Given the description of an element on the screen output the (x, y) to click on. 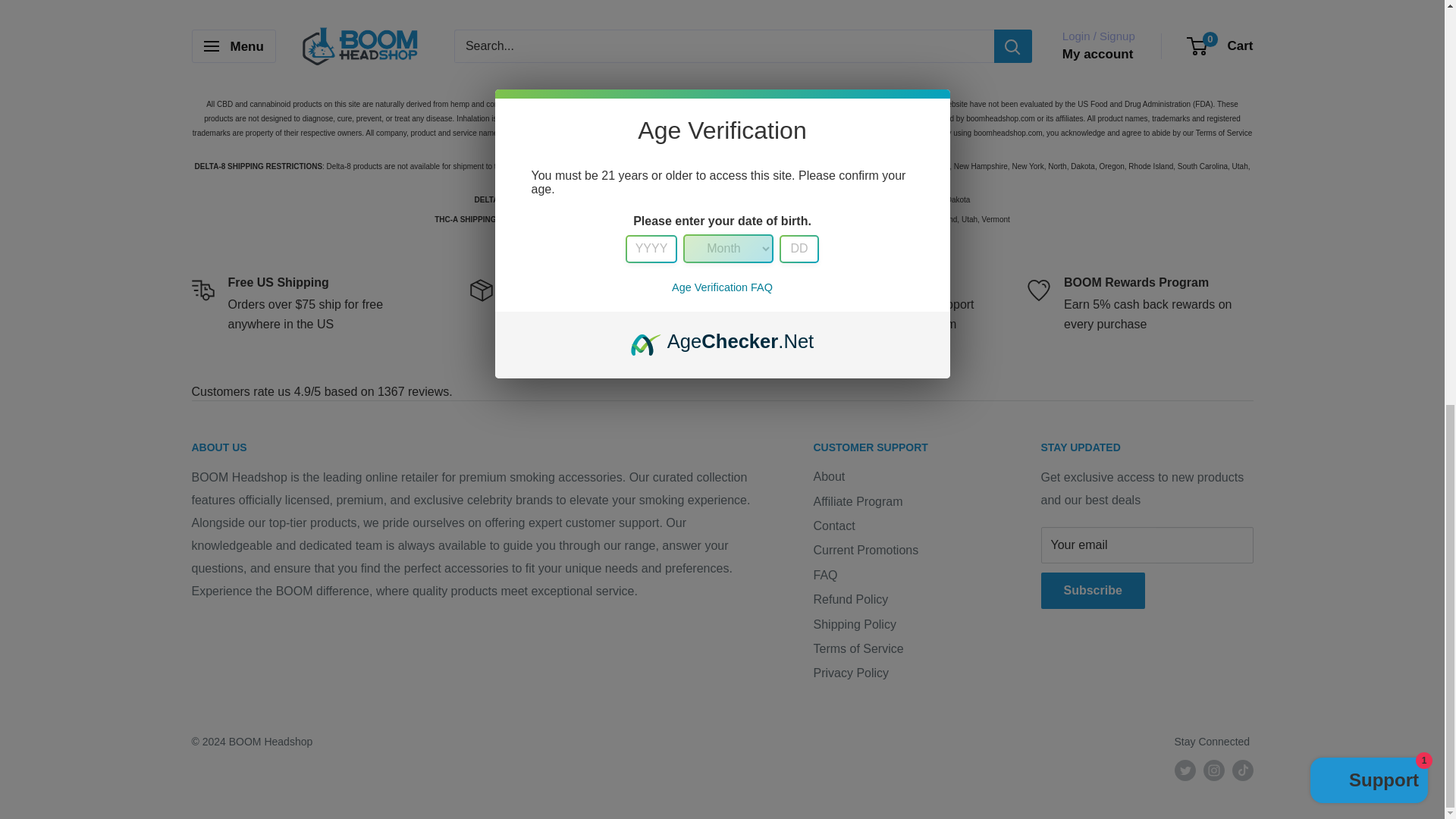
Shopify online store chat (1369, 2)
